Given the description of an element on the screen output the (x, y) to click on. 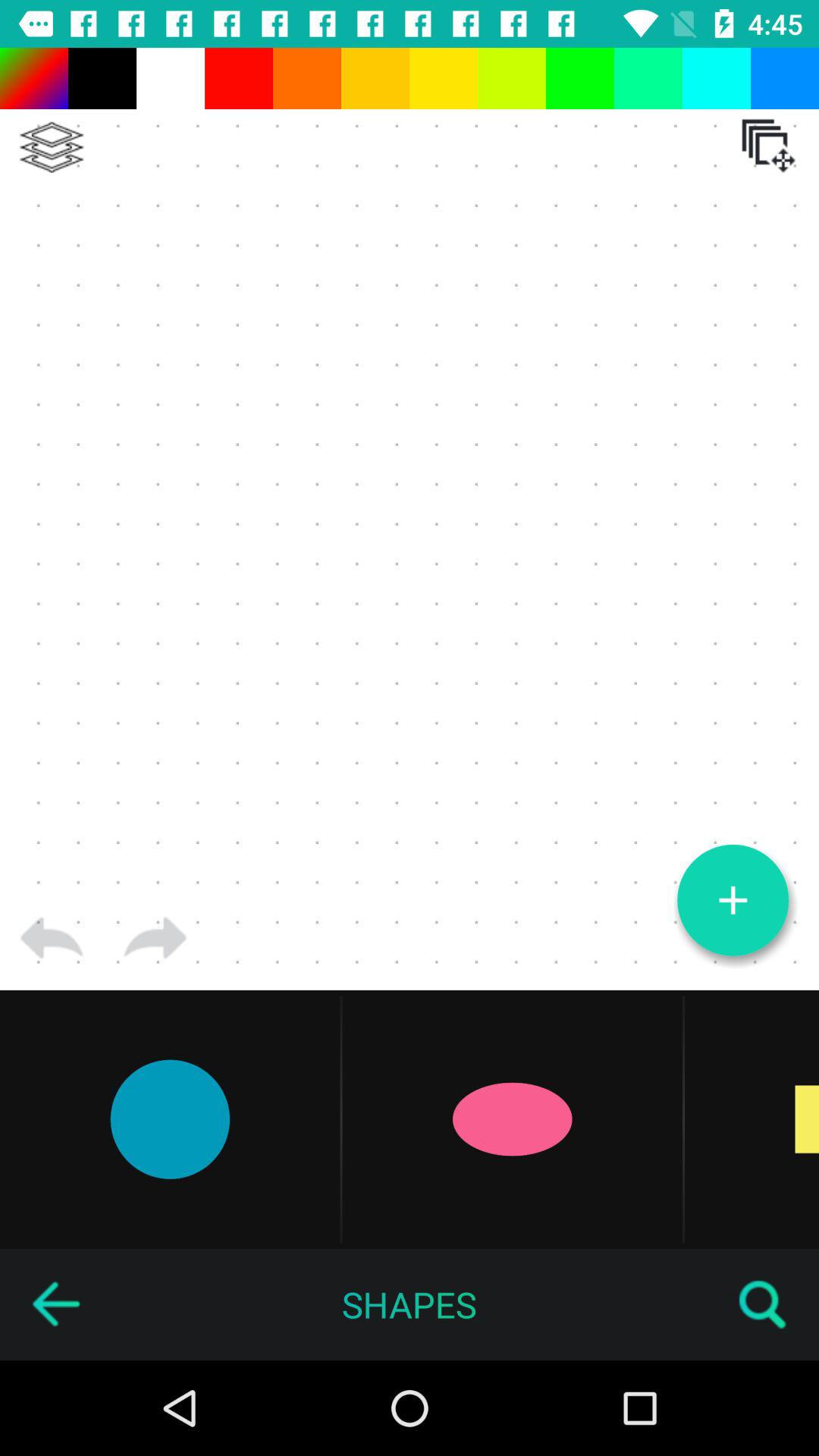
next page (155, 938)
